Given the description of an element on the screen output the (x, y) to click on. 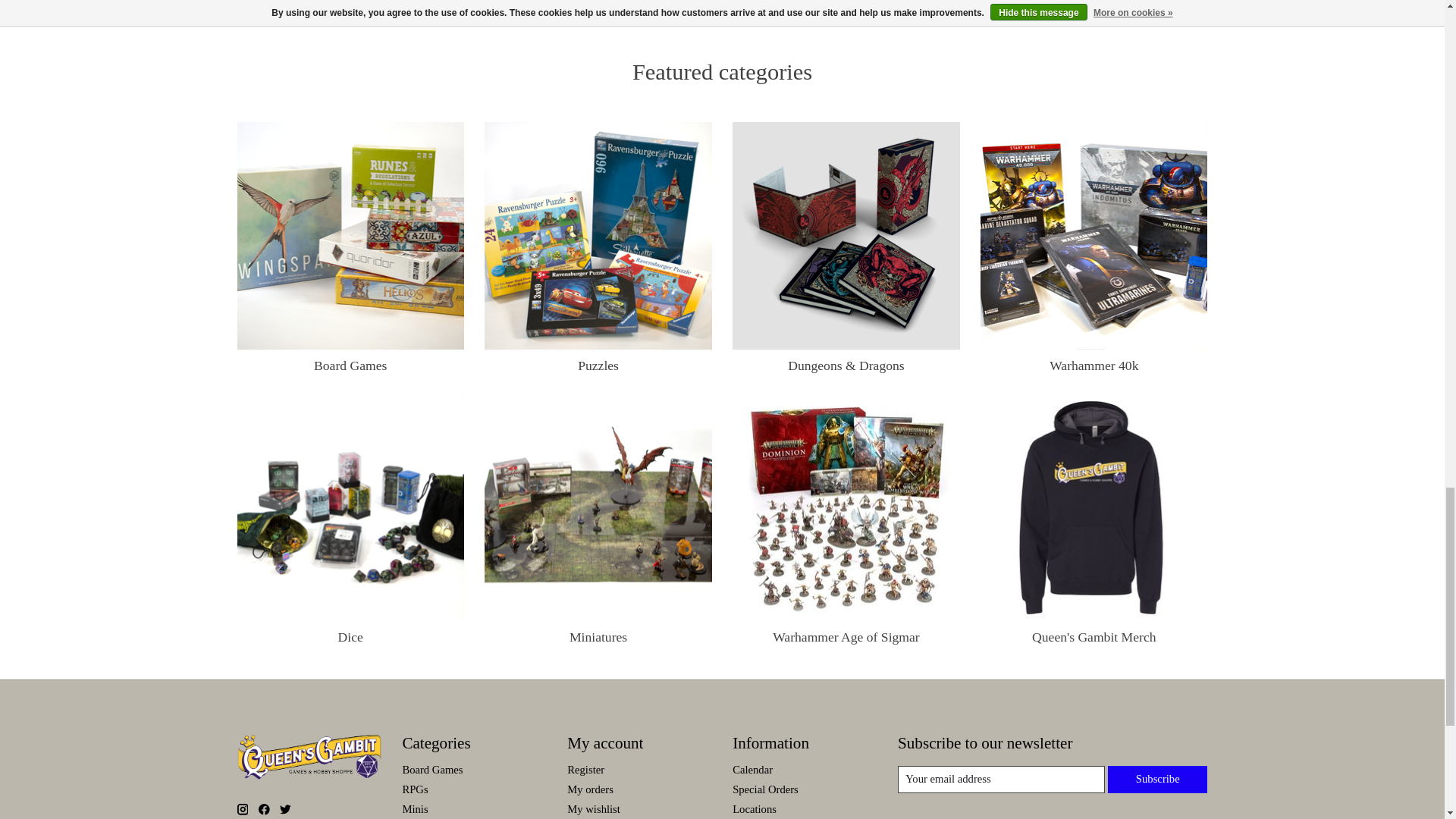
Puzzles (597, 235)
Dice (350, 506)
Queen's Gambit Merch (1093, 506)
Miniatures (597, 506)
Warhammer 40k (1093, 235)
Board Games (350, 235)
Register (585, 769)
My wishlist (593, 808)
My orders (589, 788)
Warhammer  Age of Sigmar (845, 506)
Calendar (752, 769)
